Given the description of an element on the screen output the (x, y) to click on. 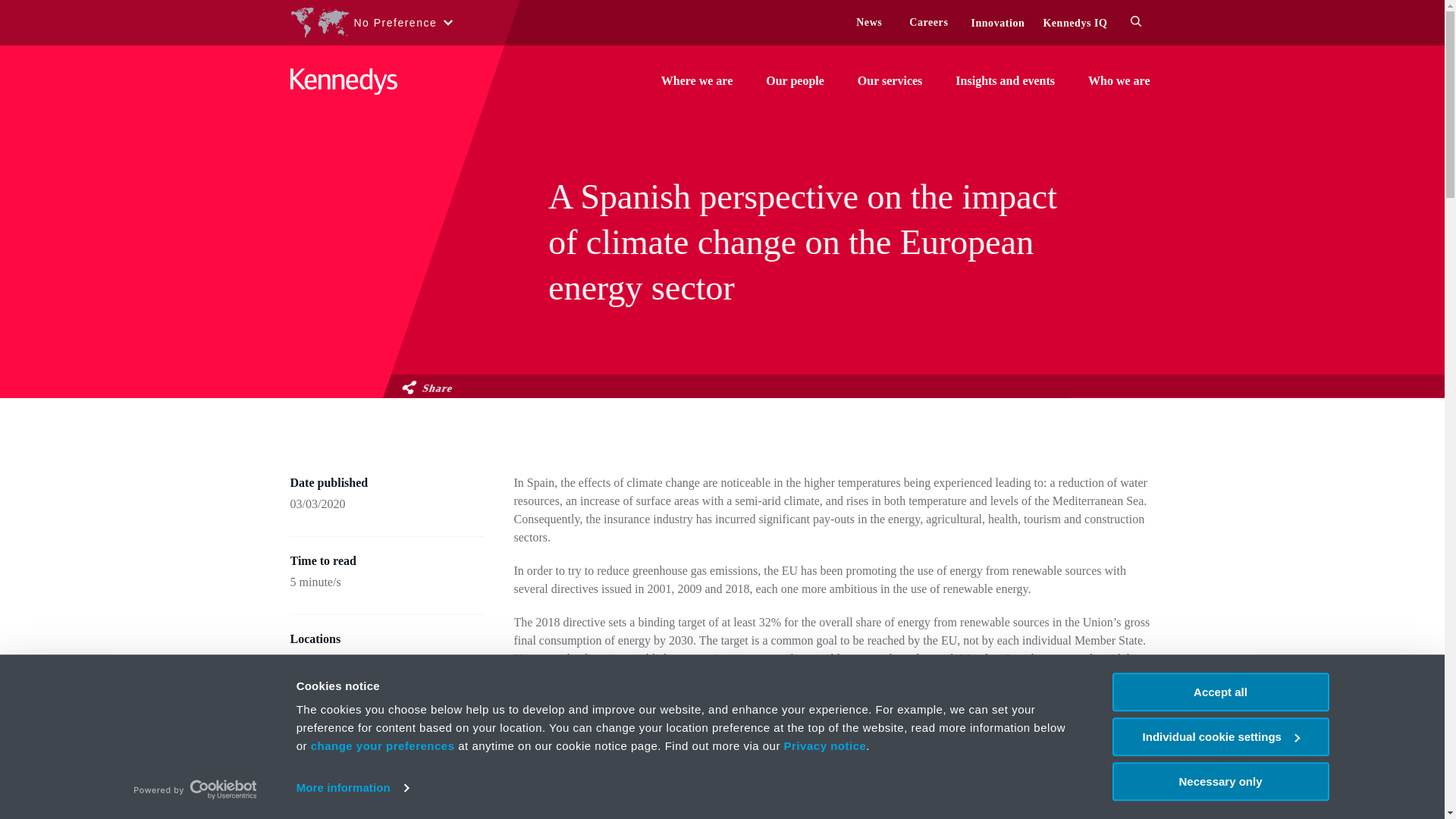
Innovation (998, 22)
More information (353, 787)
change your preferences (382, 745)
Privacy notice (825, 745)
